Given the description of an element on the screen output the (x, y) to click on. 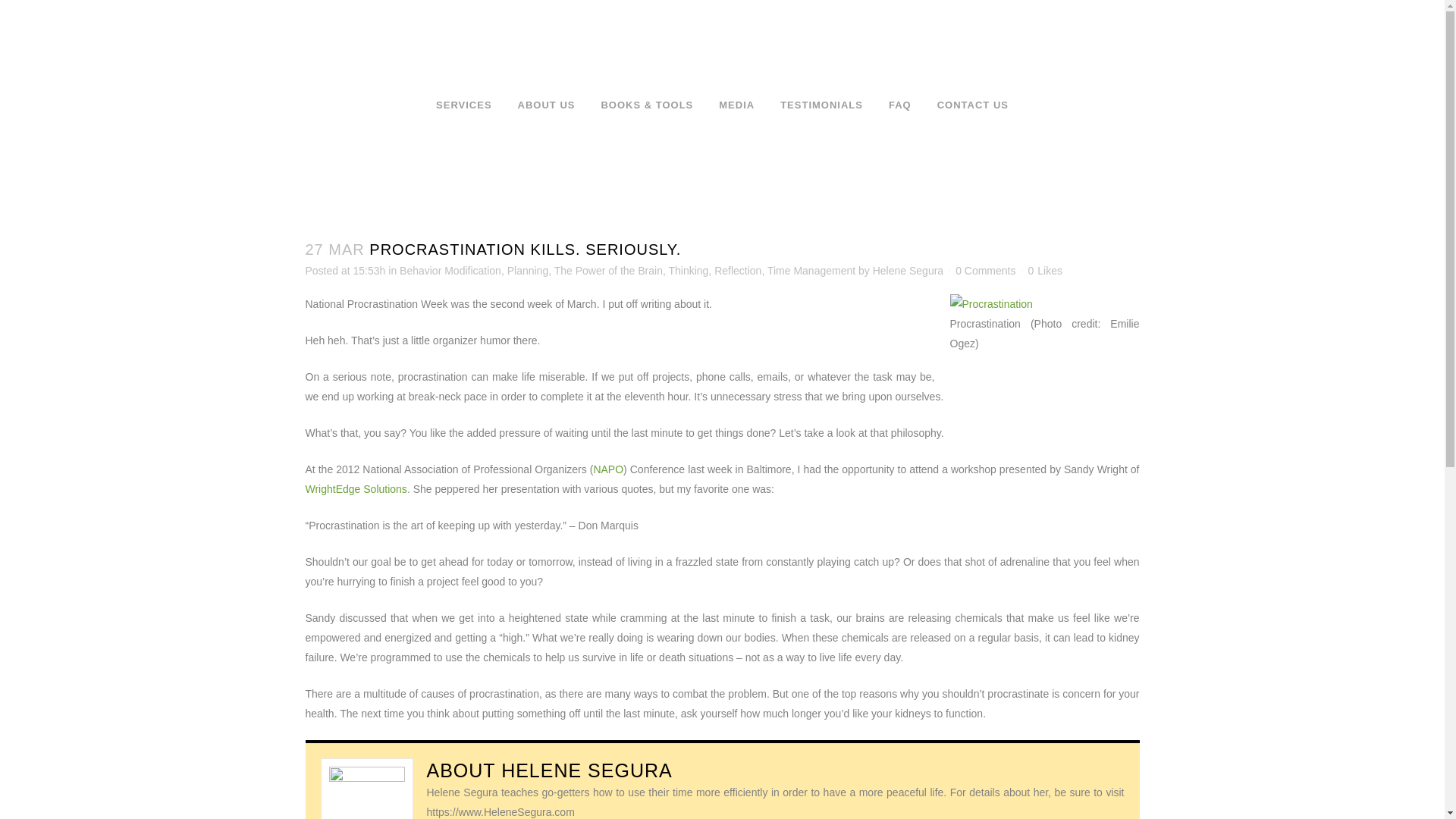
Behavior Modification (449, 270)
The Power of the Brain (608, 270)
Helene Segura (586, 770)
NAPO (607, 469)
Procrastination (990, 303)
Like this (1044, 270)
Helene Segura (907, 270)
WrightEdge Solutions (355, 489)
SERVICES (464, 105)
0 Comments (984, 270)
HELENE SEGURA (586, 770)
Thinking, Reflection (714, 270)
CONTACT US (973, 105)
Time Management (811, 270)
0 Likes (1044, 270)
